Given the description of an element on the screen output the (x, y) to click on. 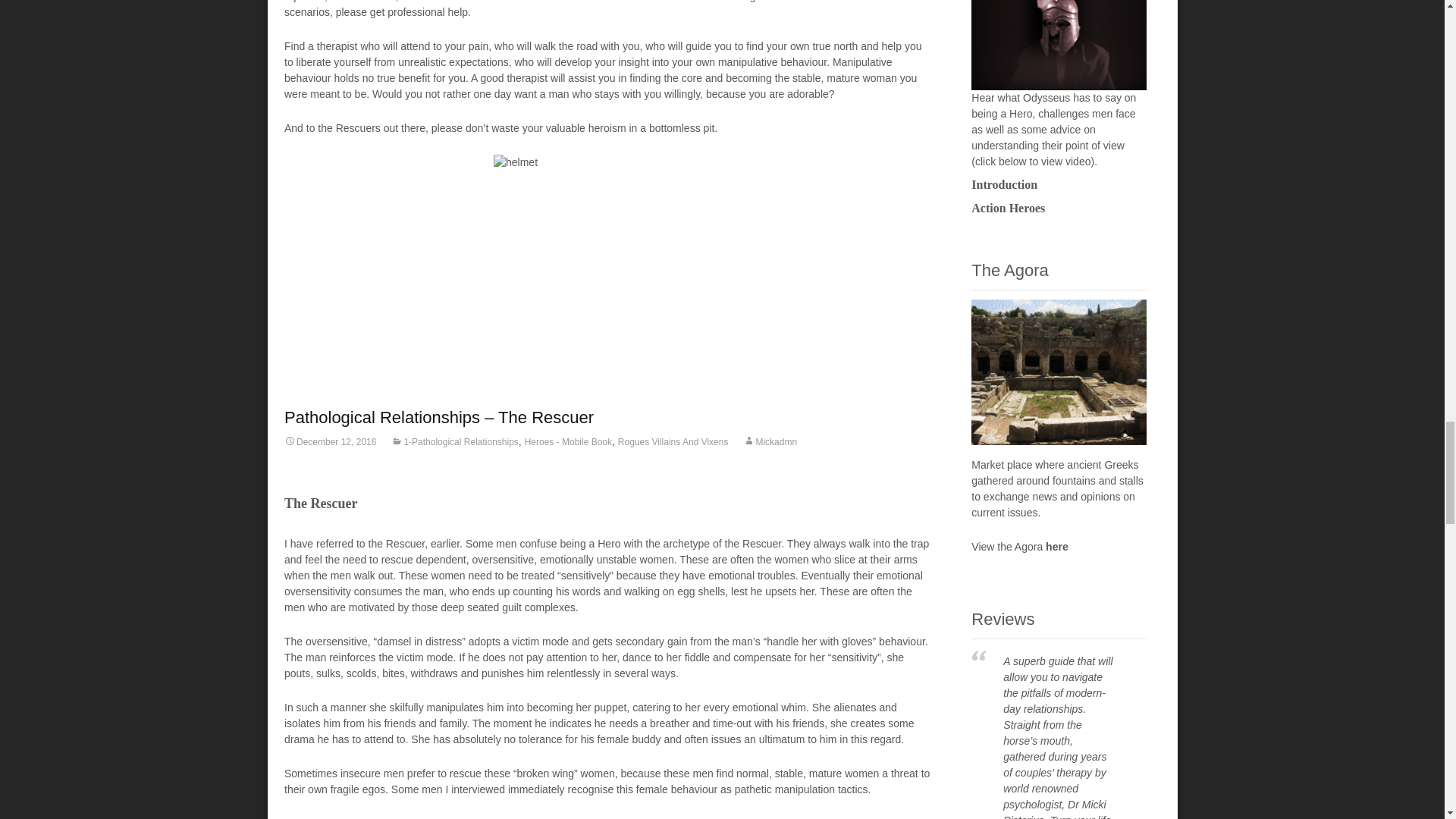
December 12, 2016 (329, 441)
1-Pathological Relationships (454, 441)
Rogues Villains And Vixens (673, 441)
Heroes - Mobile Book (567, 441)
Mickadmn (769, 441)
View all posts by Mickadmn (769, 441)
